Given the description of an element on the screen output the (x, y) to click on. 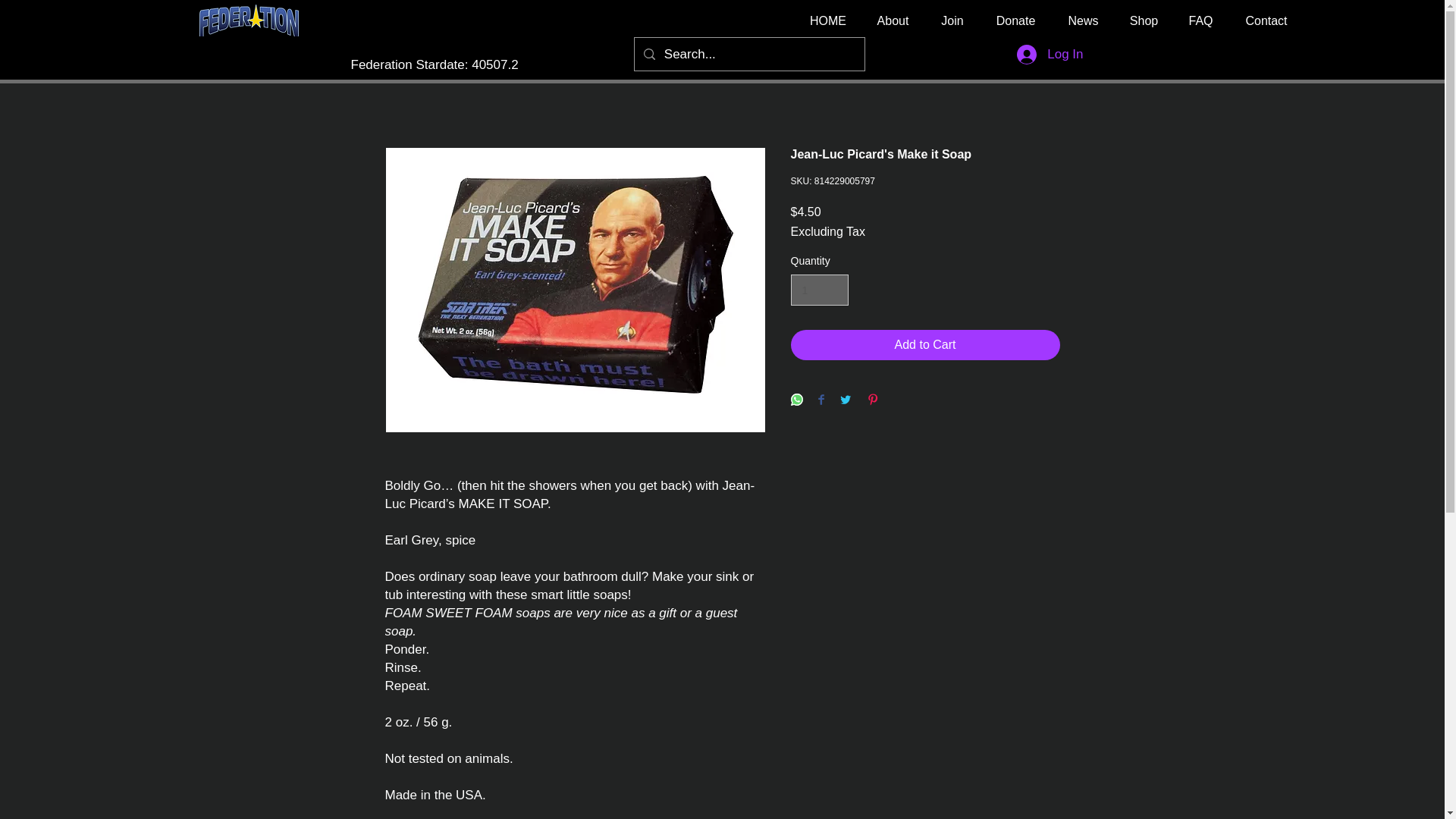
Join (952, 20)
1 (818, 289)
Log In (1049, 54)
Contact (1265, 20)
FAQ (1200, 20)
Add to Cart (924, 345)
logo 750.png (248, 20)
HOME (828, 20)
About (893, 20)
Shop (1143, 20)
News (1082, 20)
Donate (1015, 20)
